Given the description of an element on the screen output the (x, y) to click on. 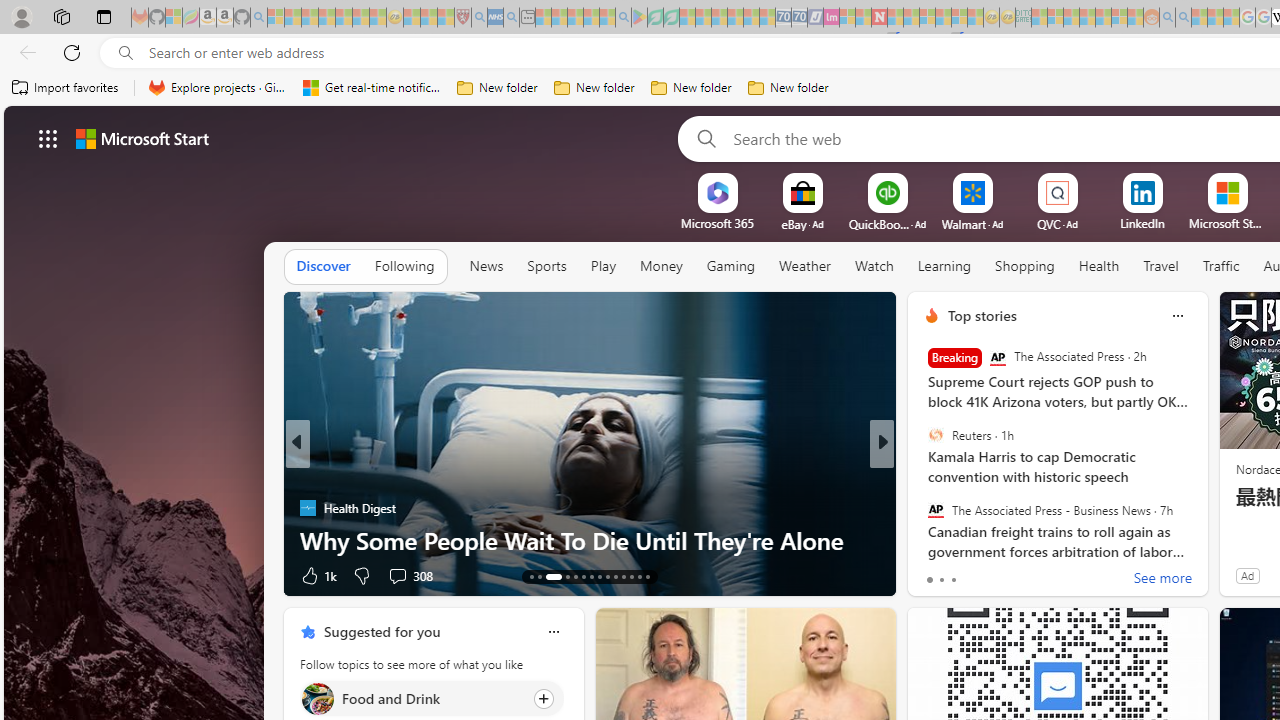
54 Like (934, 574)
Why Some People Wait To Die Until They're Alone (589, 539)
2k Like (933, 574)
684 Like (936, 574)
Local - MSN - Sleeping (445, 17)
Watch (874, 267)
Import favorites (65, 88)
The Associated Press - Business News (935, 509)
